Given the description of an element on the screen output the (x, y) to click on. 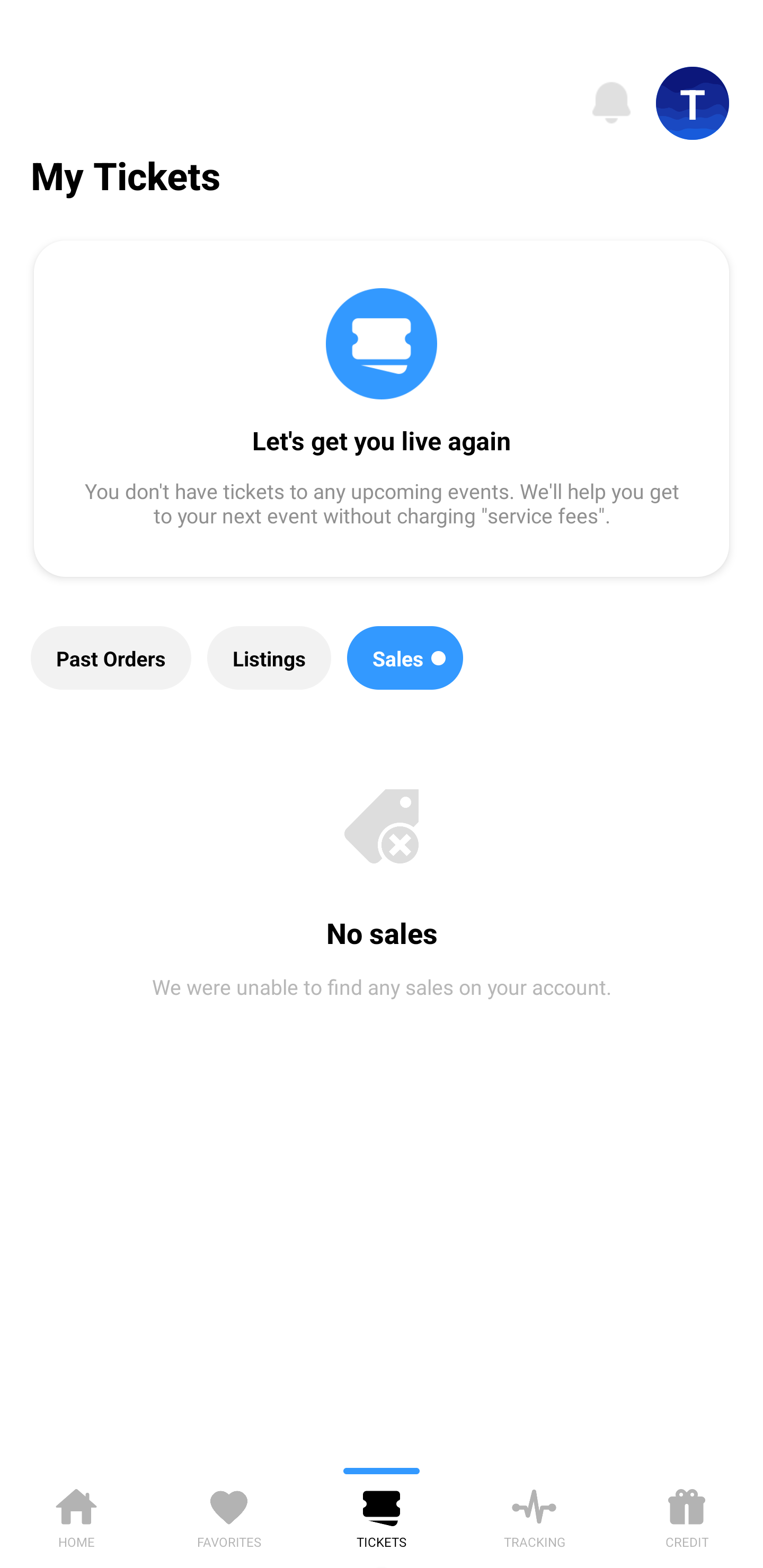
T (692, 103)
Past Orders (110, 657)
Listings (269, 657)
Sales (405, 657)
HOME (76, 1515)
FAVORITES (228, 1515)
TICKETS (381, 1515)
TRACKING (533, 1515)
CREDIT (686, 1515)
